Given the description of an element on the screen output the (x, y) to click on. 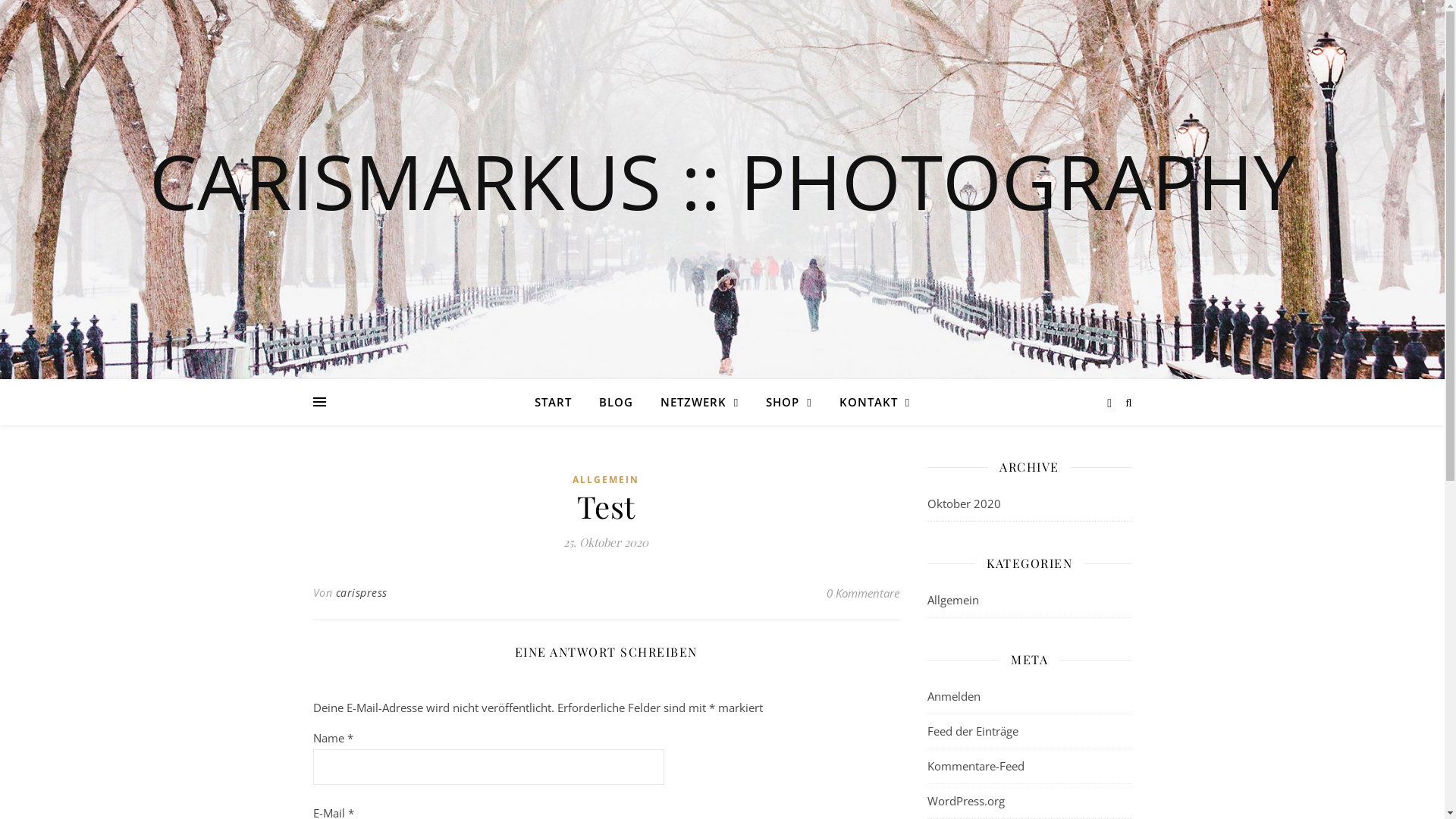
carispress Element type: text (360, 592)
WordPress.org Element type: text (965, 800)
Anmelden Element type: text (952, 695)
KONTAKT Element type: text (868, 402)
Oktober 2020 Element type: text (963, 503)
BLOG Element type: text (615, 401)
START Element type: text (558, 401)
ALLGEMEIN Element type: text (605, 479)
Kommentare-Feed Element type: text (974, 765)
SHOP Element type: text (788, 402)
0 Kommentare Element type: text (862, 592)
NETZWERK Element type: text (699, 402)
CARISMARKUS :: PHOTOGRAPHY Element type: text (722, 180)
Allgemein Element type: text (952, 600)
